Given the description of an element on the screen output the (x, y) to click on. 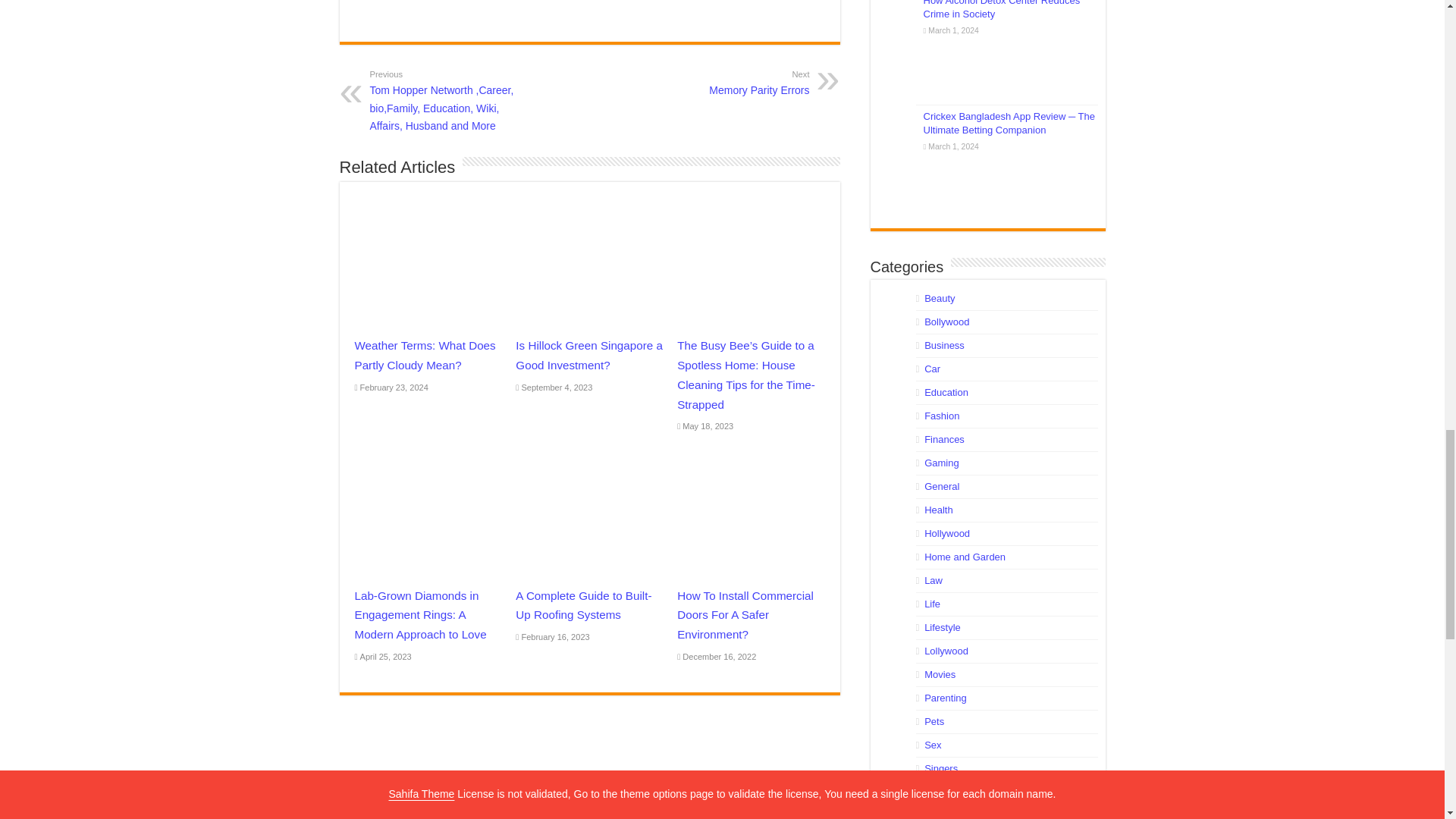
A Complete Guide to Built-Up Roofing Systems (582, 604)
Is Hillock Green Singapore a Good Investment? (588, 355)
How To Install Commercial Doors For A Safer Environment? (731, 81)
Weather Terms: What Does Partly Cloudy Mean? (745, 614)
